Given the description of an element on the screen output the (x, y) to click on. 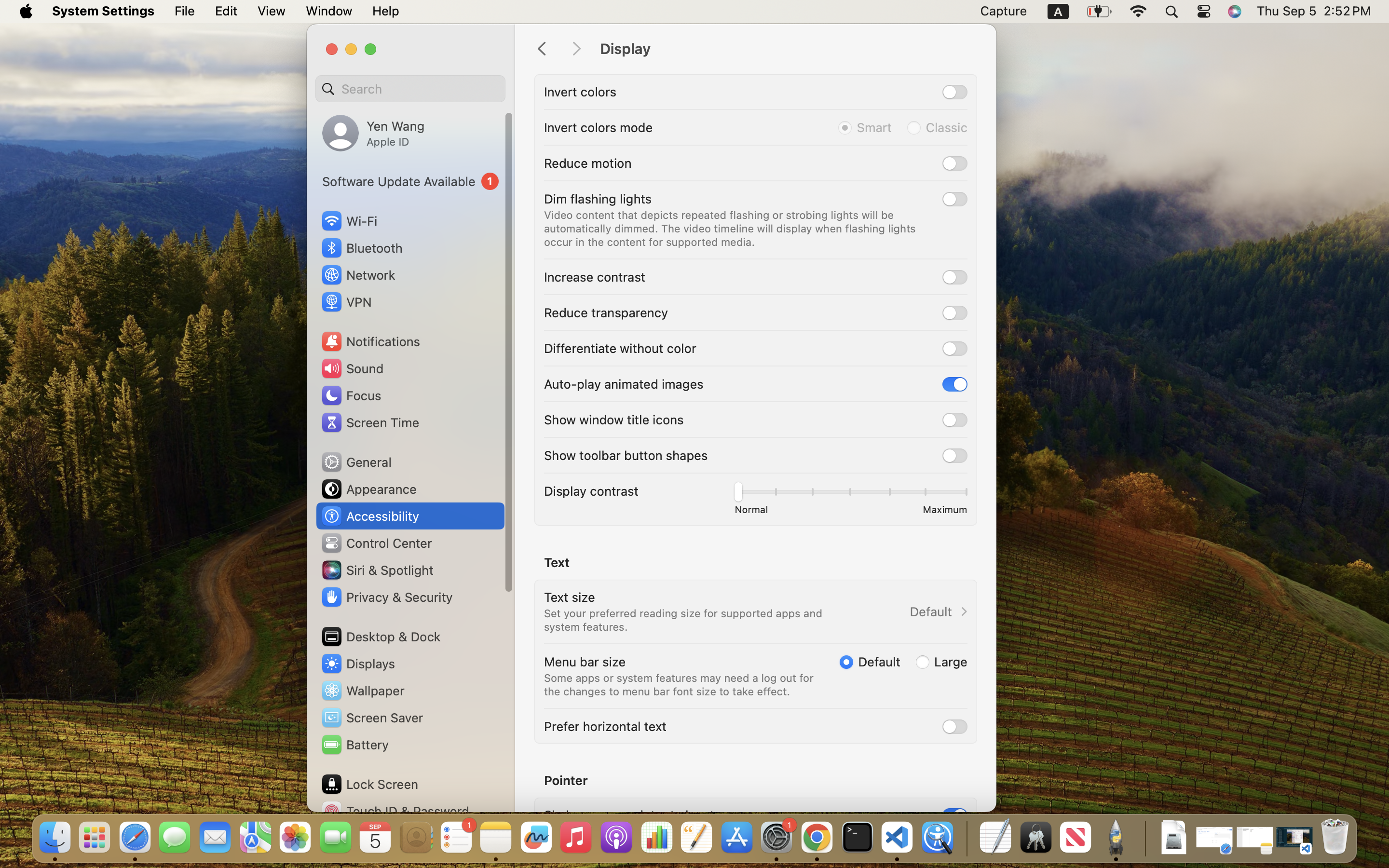
Increase contrast Element type: AXStaticText (594, 276)
0.4285714328289032 Element type: AXDockItem (965, 837)
Display Element type: AXStaticText (788, 49)
Control Center Element type: AXStaticText (376, 542)
1 Element type: AXRadioButton (869, 661)
